Given the description of an element on the screen output the (x, y) to click on. 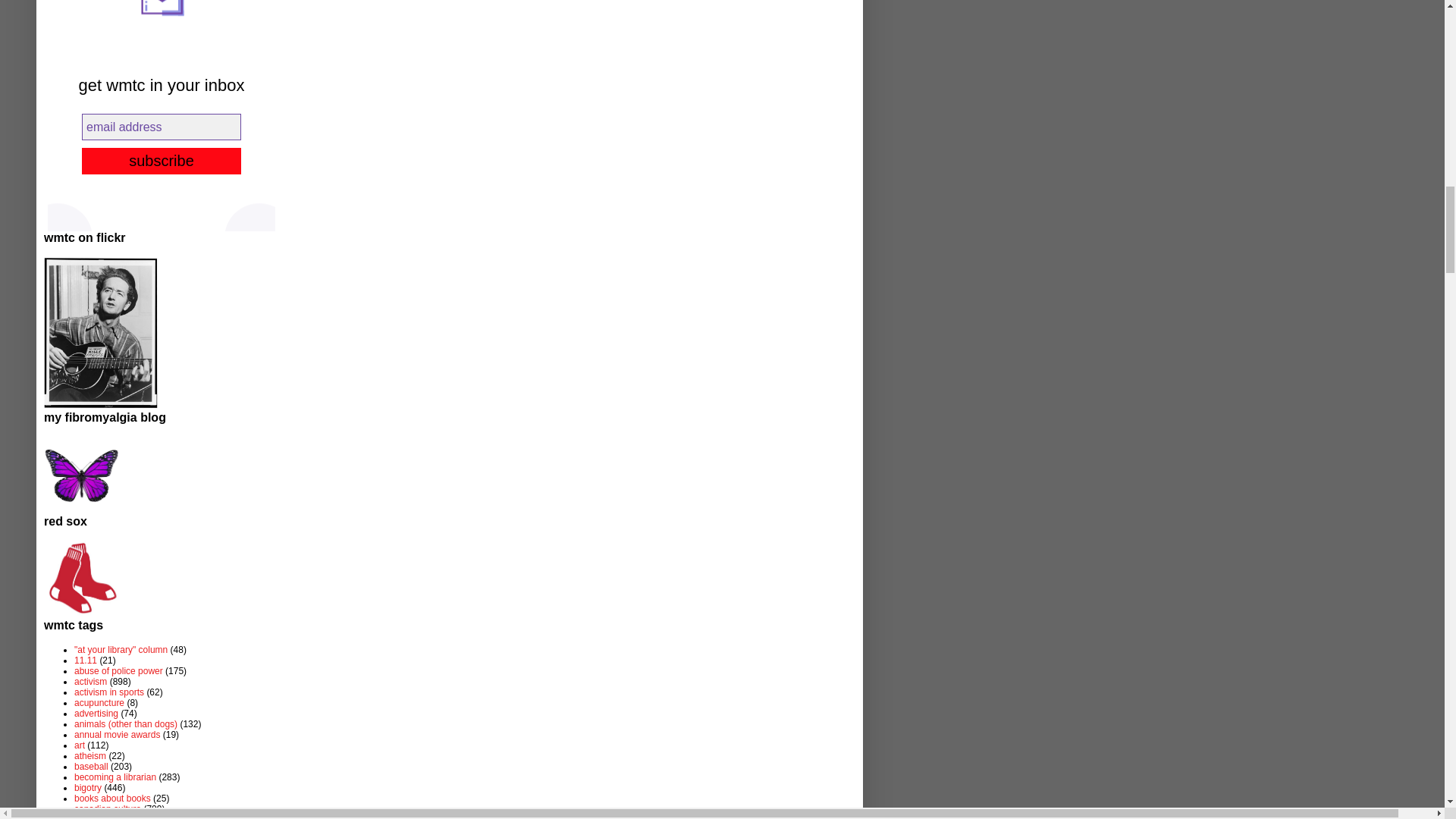
atheism (90, 756)
abuse of police power (118, 670)
annual movie awards (117, 734)
subscribe (161, 161)
"at your library" column (120, 649)
advertising (95, 713)
acupuncture (98, 702)
art (79, 745)
11.11 (85, 660)
activism in sports (109, 692)
activism (90, 681)
